Given the description of an element on the screen output the (x, y) to click on. 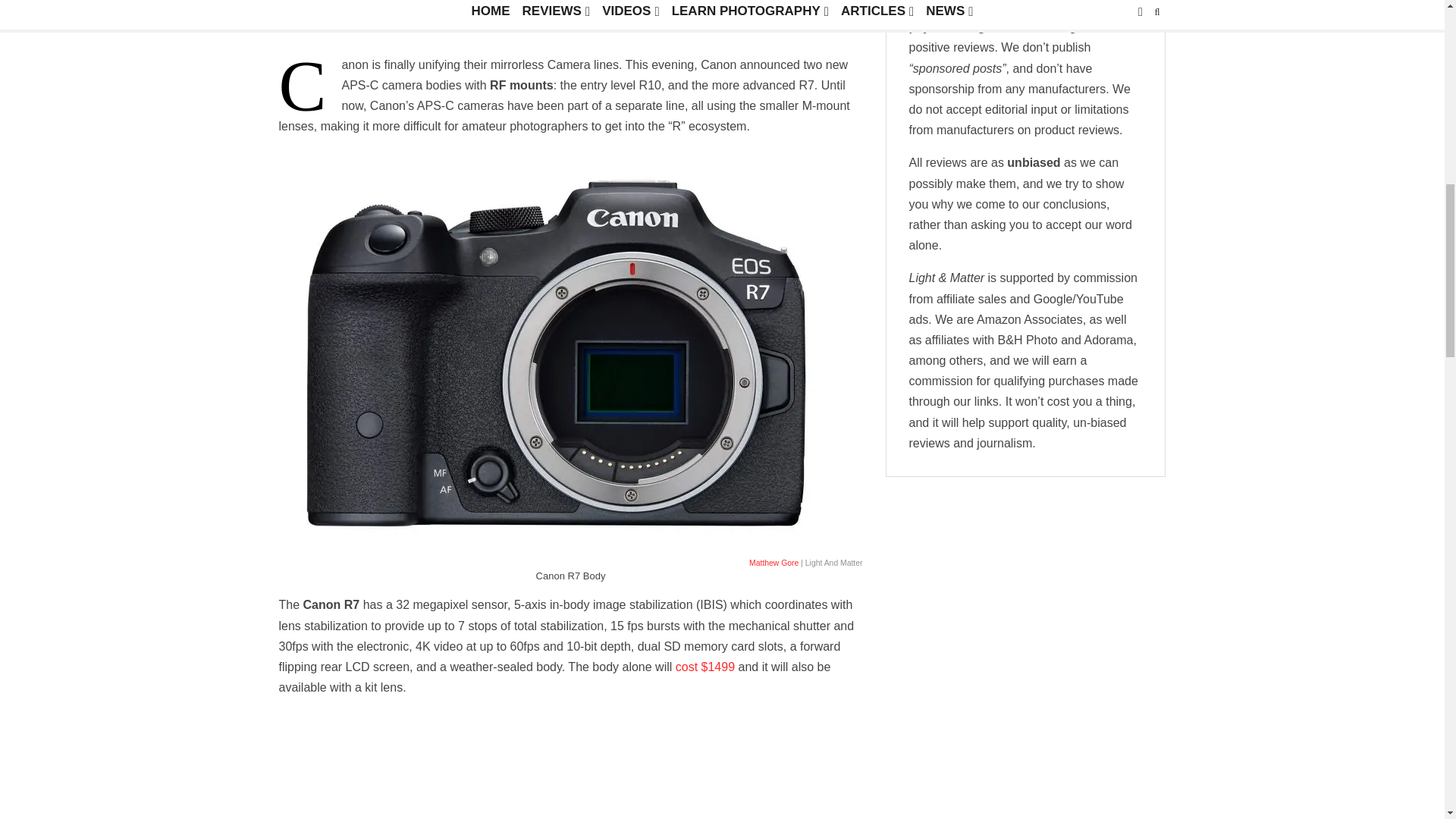
Posts by Matthew Gore (316, 24)
